Given the description of an element on the screen output the (x, y) to click on. 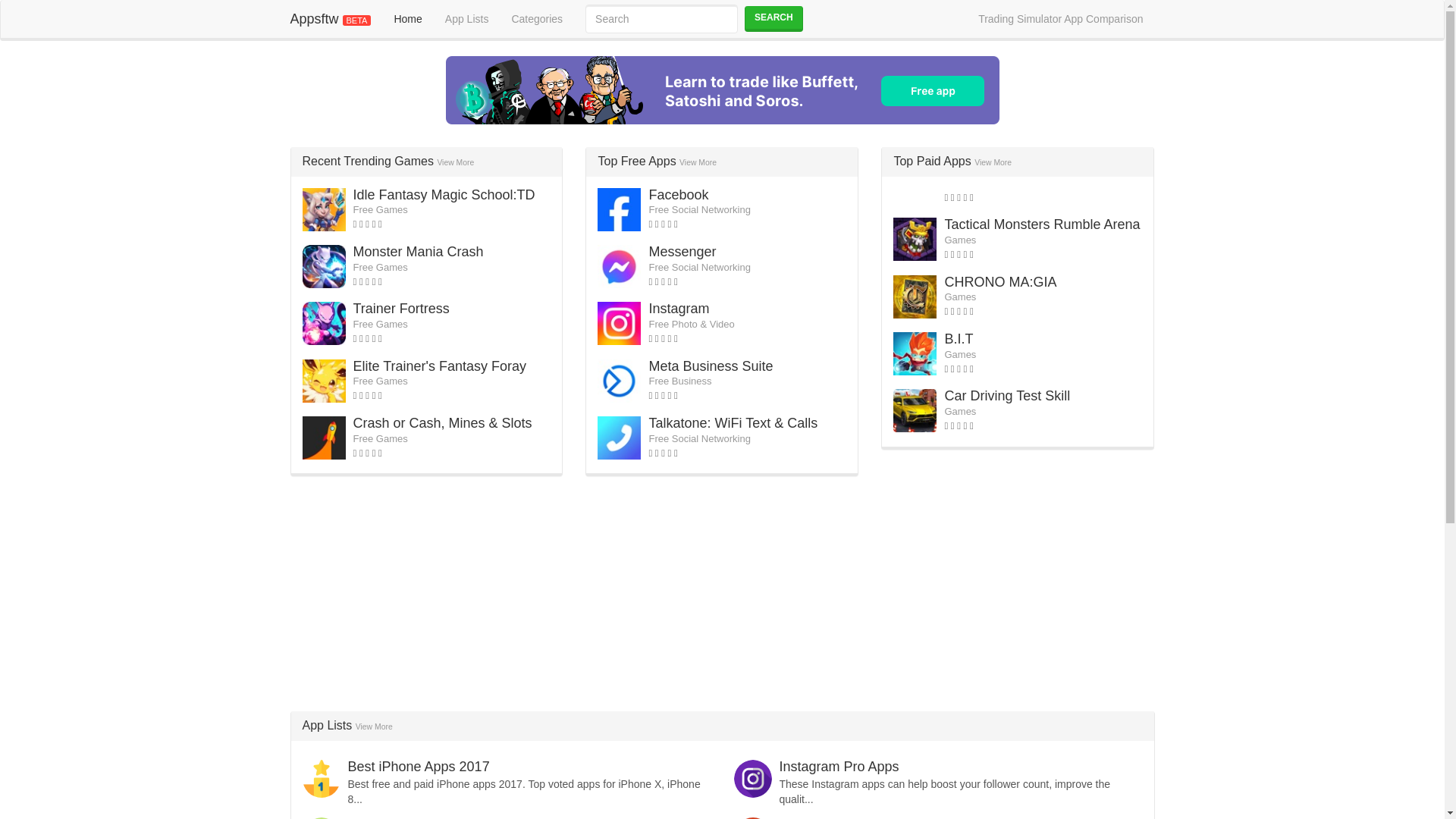
View CHRONO MA:GIA (1000, 281)
App Lists (466, 18)
Recent Trending Games View More (387, 160)
Facebook (677, 194)
Stock Market Game - Trading Simulator (721, 90)
View Instagram (678, 308)
Idle Fantasy Magic School:TD (444, 194)
View Trainer Fortress (401, 308)
Tactical Monsters Rumble Arena (1041, 224)
Meta Business Suite (710, 365)
